Given the description of an element on the screen output the (x, y) to click on. 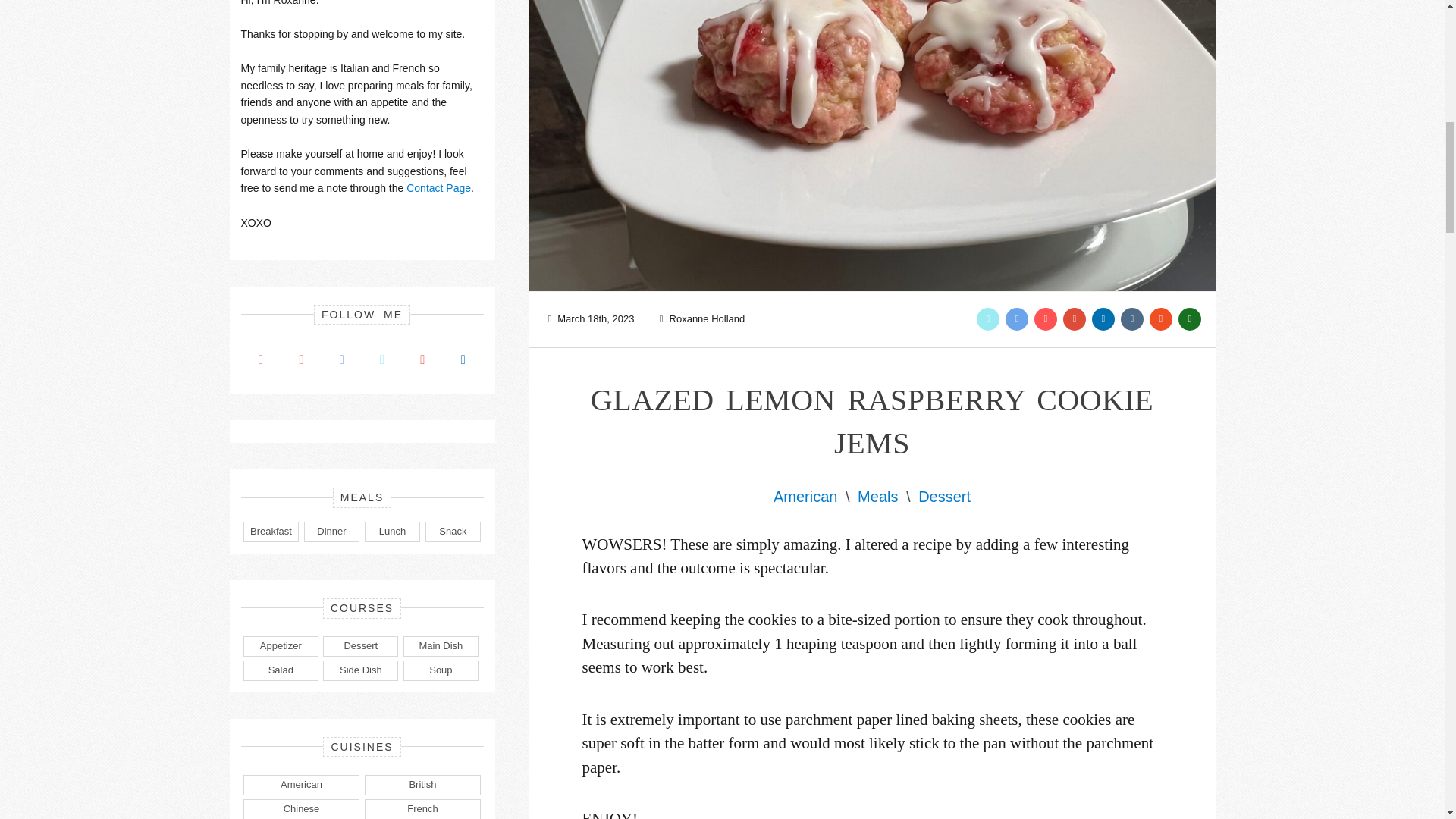
Share via Facebook (1016, 318)
Pin This on Pinterest (1045, 318)
Share on Reddit (1189, 318)
Veg In OC on Tumblr (1131, 318)
Tweet This (987, 318)
Share on StumbleUpon (1161, 318)
Vegn In OC on Linkedin (1103, 318)
